Given the description of an element on the screen output the (x, y) to click on. 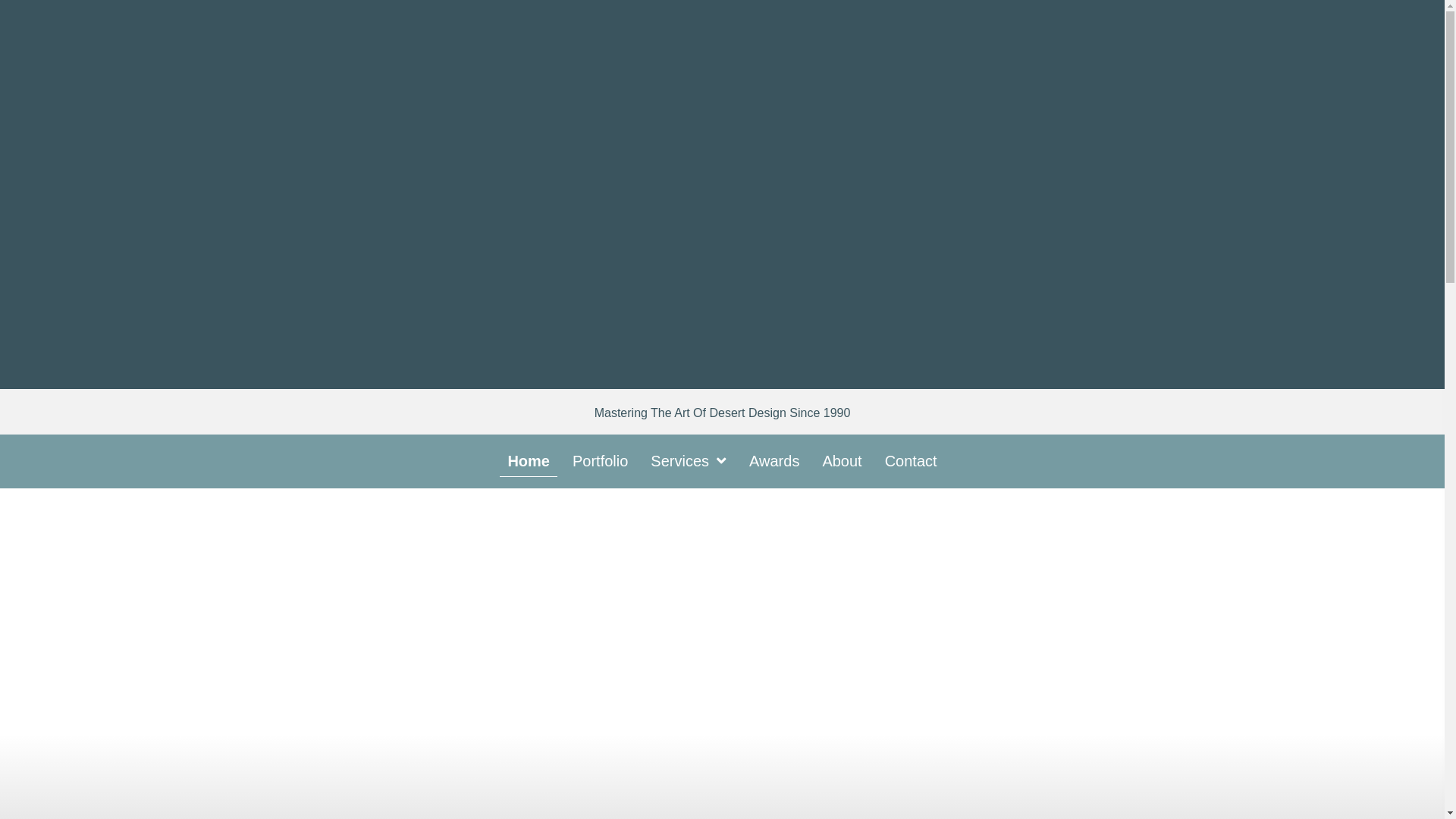
About (841, 460)
Home (528, 460)
Portfolio (599, 460)
Services (688, 460)
Contact (910, 460)
Awards (773, 460)
